Given the description of an element on the screen output the (x, y) to click on. 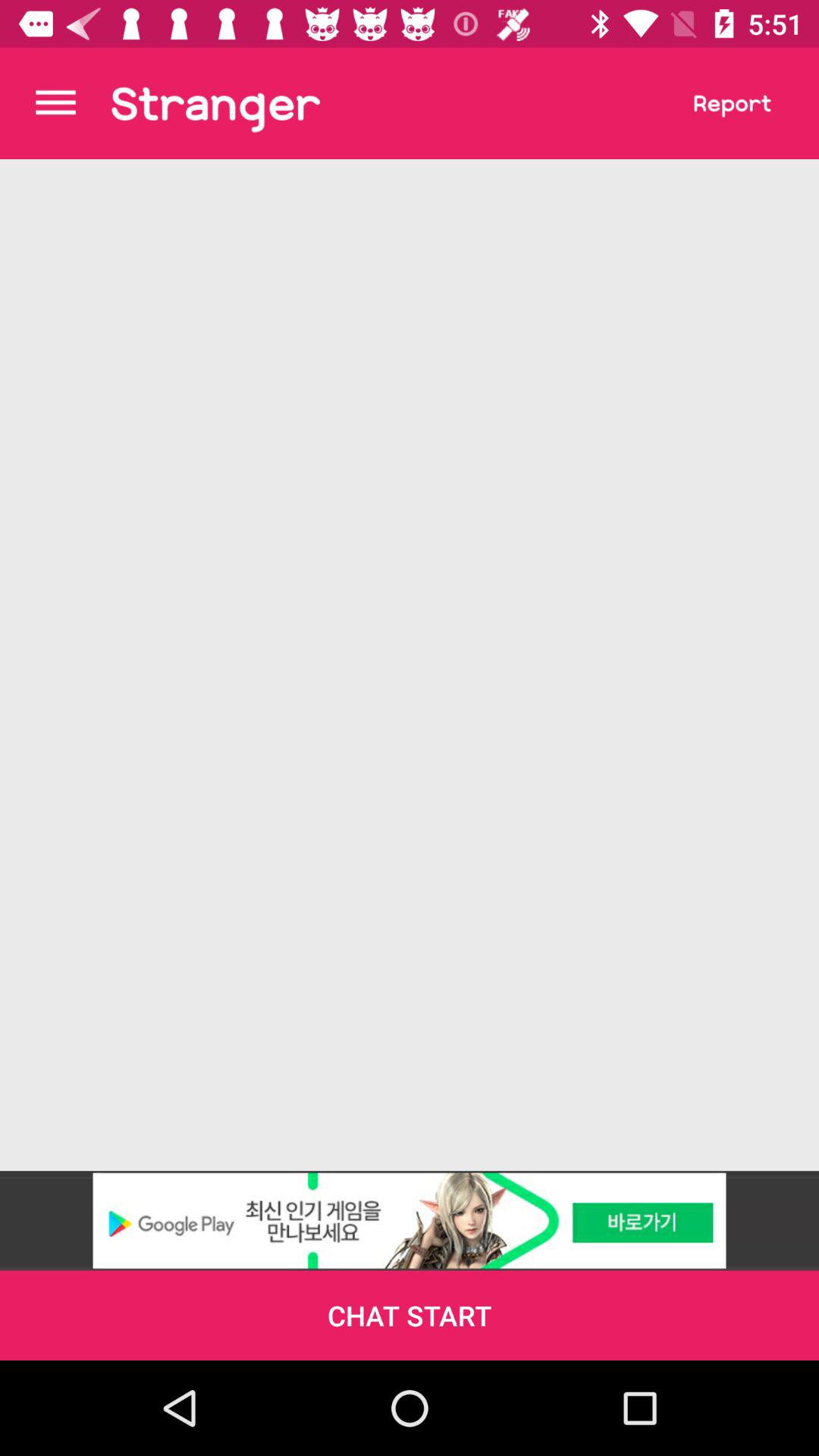
report stranger (732, 103)
